Given the description of an element on the screen output the (x, y) to click on. 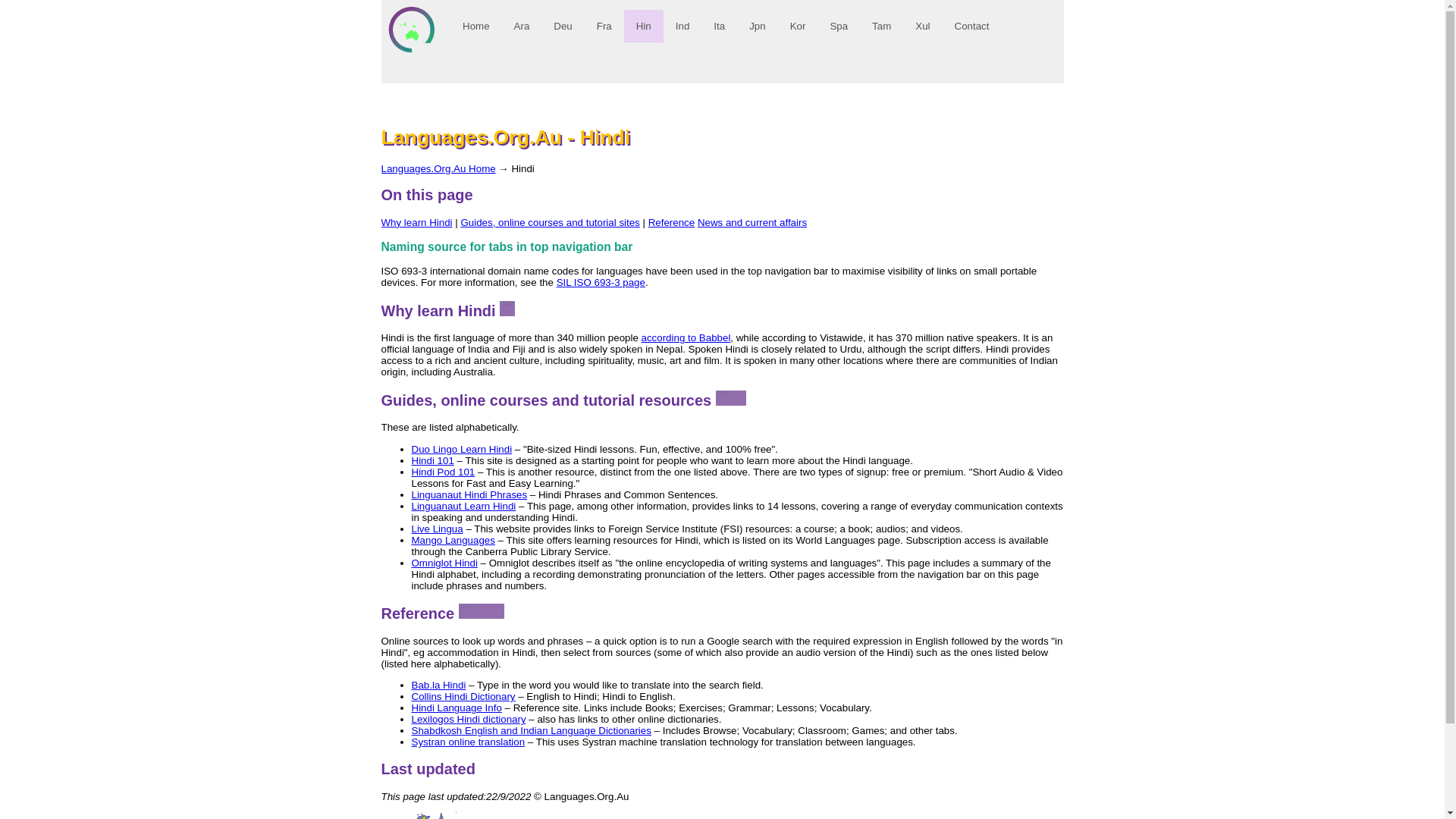
Deu Element type: text (562, 25)
Linguanaut Learn Hindi Element type: text (463, 505)
Lexilogos Hindi dictionary Element type: text (468, 718)
News and current affairs Element type: text (751, 222)
Hin Element type: text (642, 25)
Systran online translation Element type: text (467, 741)
Contact Element type: text (971, 25)
Spa Element type: text (838, 25)
Fra Element type: text (603, 25)
Ara Element type: text (521, 25)
Hindi 101 Element type: text (432, 460)
Languages.Org.Au Home Element type: text (437, 168)
Ind Element type: text (681, 25)
SIL ISO 693-3 page Element type: text (600, 282)
Ita Element type: text (719, 25)
Guides, online courses and tutorial sites Element type: text (549, 222)
Omniglot Hindi Element type: text (443, 562)
Mango Languages Element type: text (452, 540)
Kor Element type: text (797, 25)
Why learn Hindi Element type: text (415, 222)
Shabdkosh English and Indian Language Dictionaries Element type: text (530, 730)
Hindi Pod 101 Element type: text (442, 471)
Reference Element type: text (671, 222)
Linguanaut Hindi Phrases Element type: text (469, 494)
according to Babbel Element type: text (686, 337)
Live Lingua Element type: text (436, 528)
Hindi Language Info Element type: text (456, 707)
Jpn Element type: text (757, 25)
Xul Element type: text (922, 25)
Collins Hindi Dictionary Element type: text (462, 696)
Duo Lingo Learn Hindi Element type: text (461, 449)
Bab.la Hindi Element type: text (438, 684)
Tam Element type: text (881, 25)
Home Element type: text (476, 25)
